Given the description of an element on the screen output the (x, y) to click on. 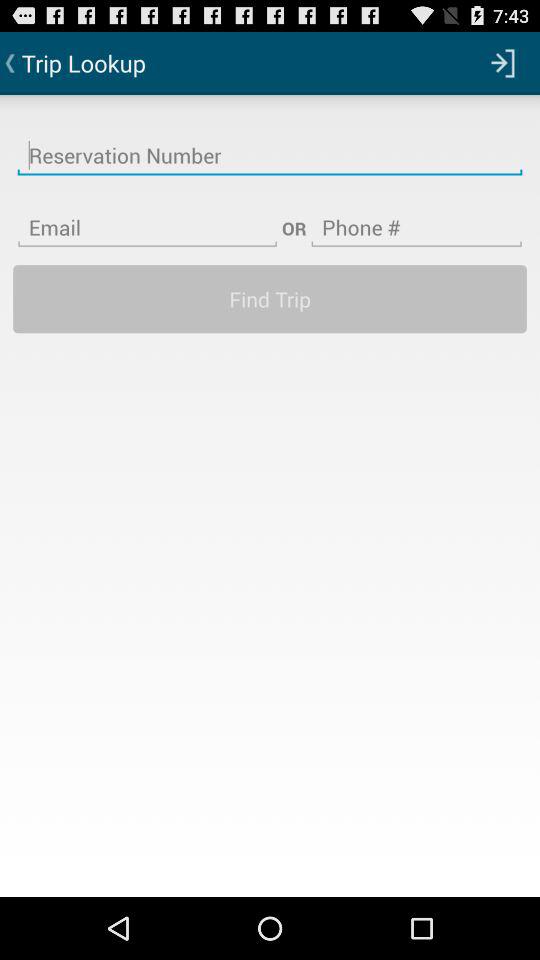
press the icon to the left of the or icon (147, 215)
